Given the description of an element on the screen output the (x, y) to click on. 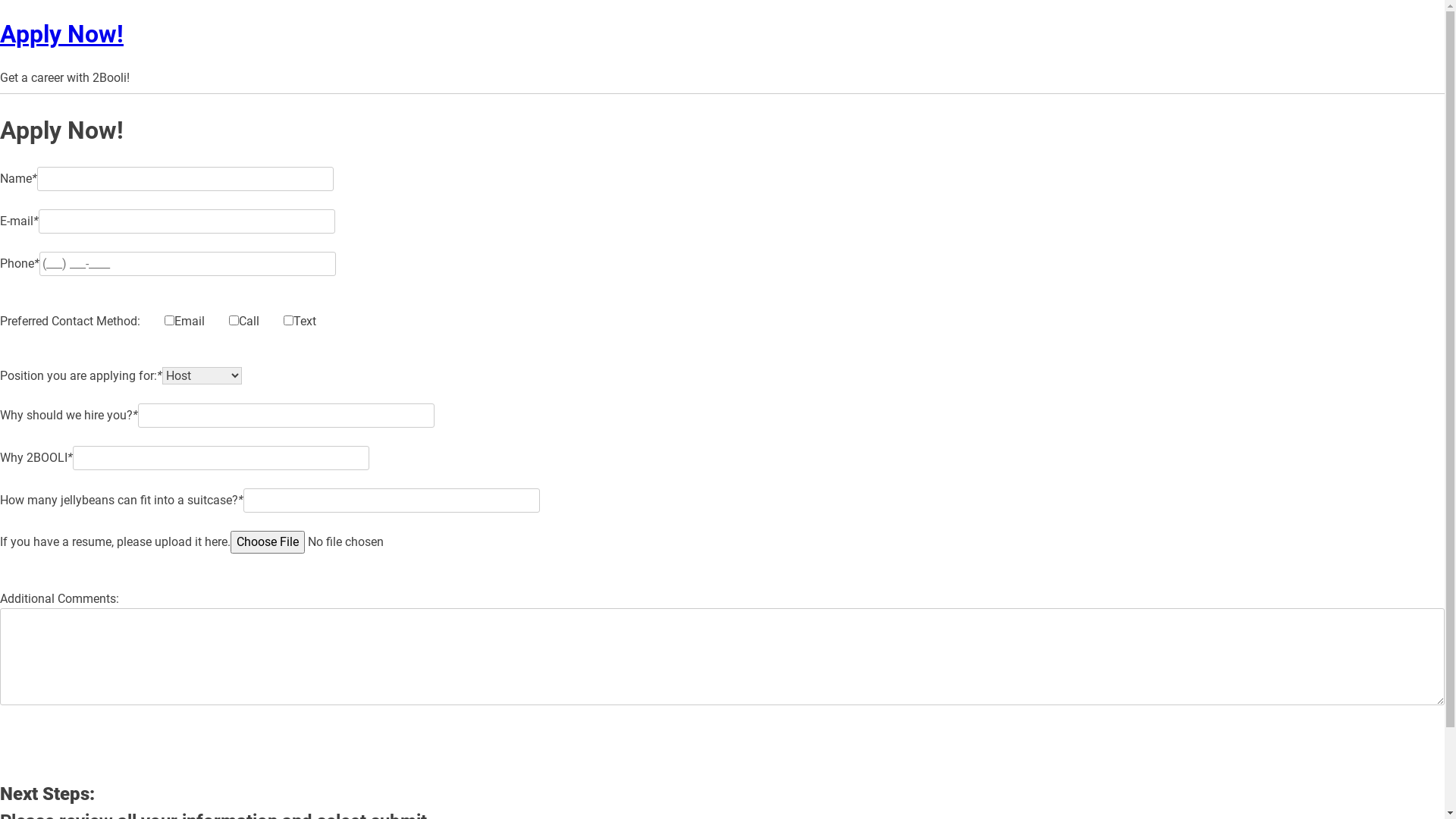
Apply Now! Element type: text (61, 33)
